Given the description of an element on the screen output the (x, y) to click on. 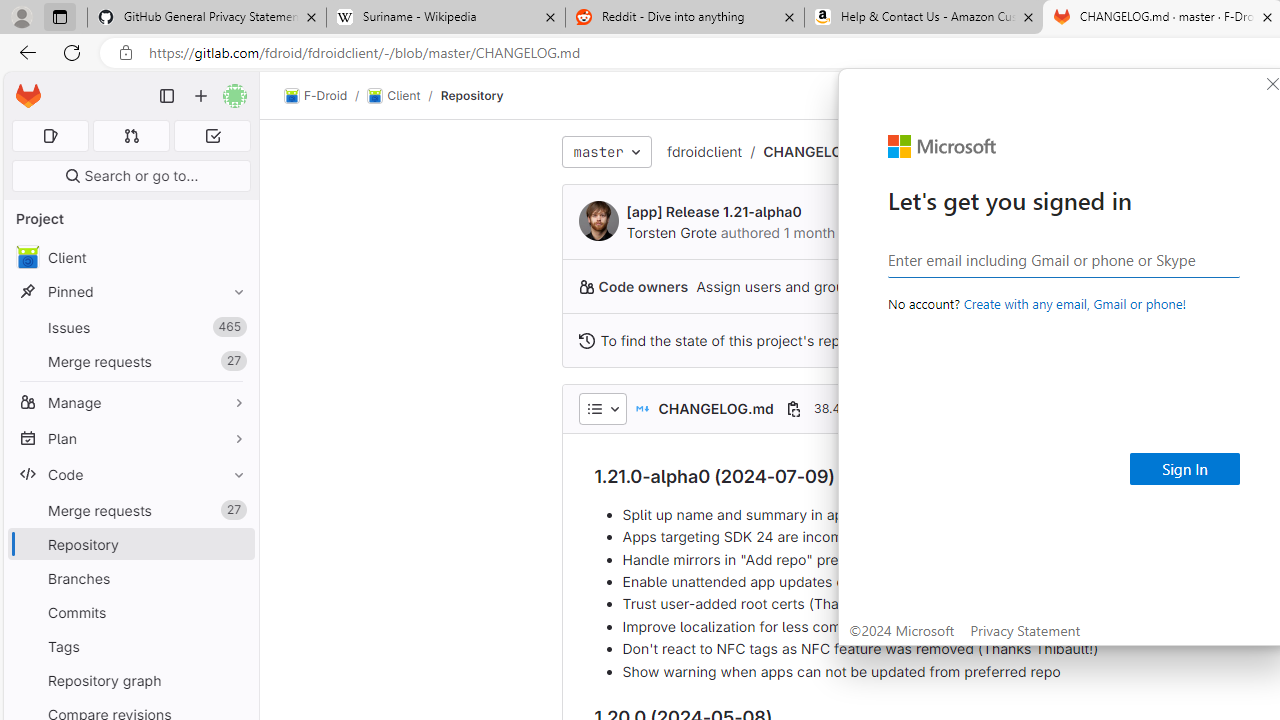
Issues 465 (130, 327)
Microsoft Icon (941, 147)
Pinned (130, 291)
Sign In (1185, 468)
Issues465 (130, 327)
Privacy Statement (1025, 630)
F-Droid/ (326, 96)
Torsten Grote's avatar (598, 220)
master (605, 151)
Suriname - Wikipedia (445, 17)
Repository graph (130, 679)
Client (130, 257)
Merge requests 27 (130, 510)
F-Droid (316, 96)
